Given the description of an element on the screen output the (x, y) to click on. 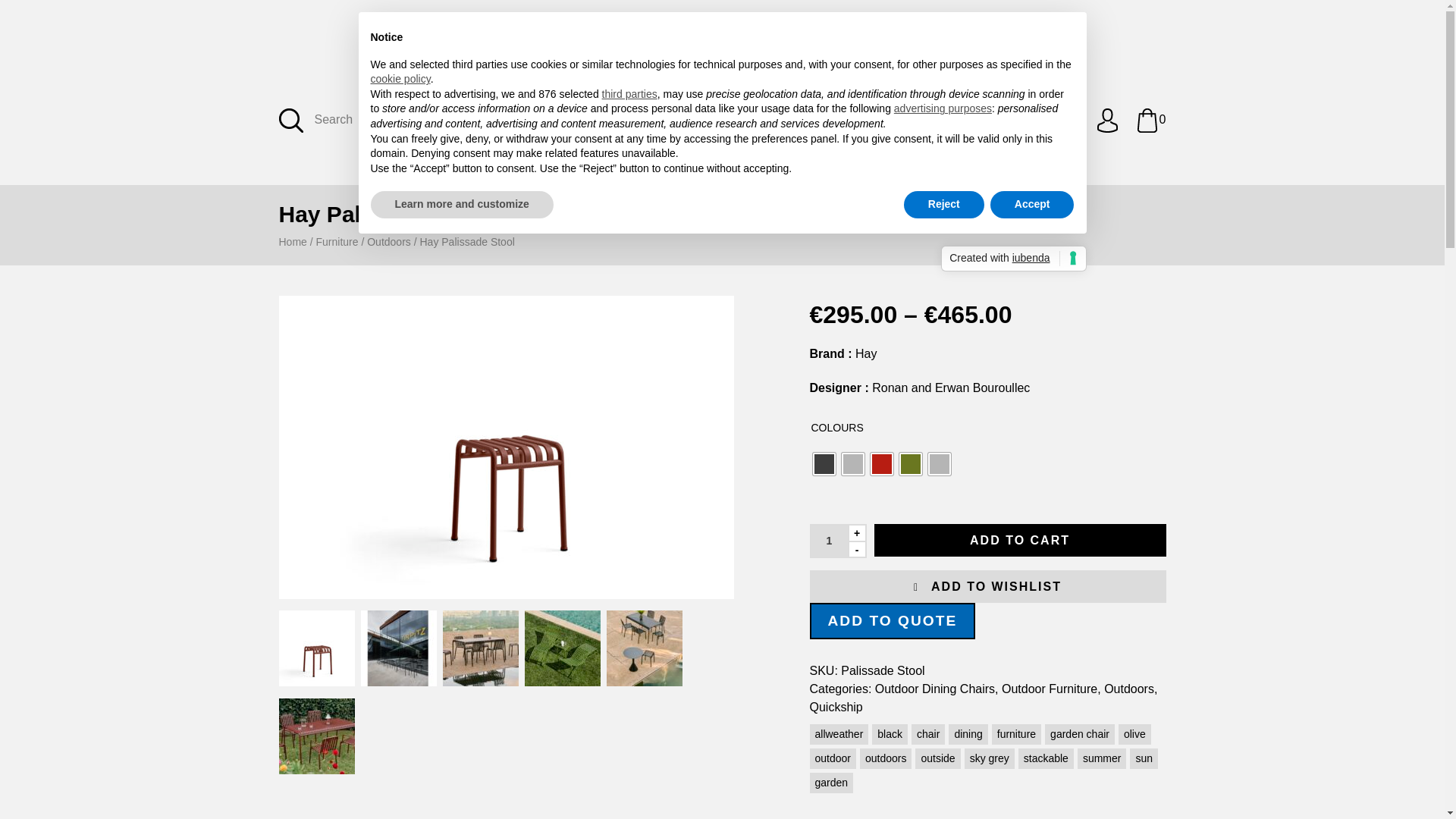
Qty (828, 540)
Sky Grey (939, 463)
Iron Red (881, 463)
LIGHTING (621, 35)
- (856, 548)
Hot Galvanised (852, 463)
Anthracite (823, 463)
FURNITURE (532, 35)
Olive (910, 463)
1 (828, 540)
